Given the description of an element on the screen output the (x, y) to click on. 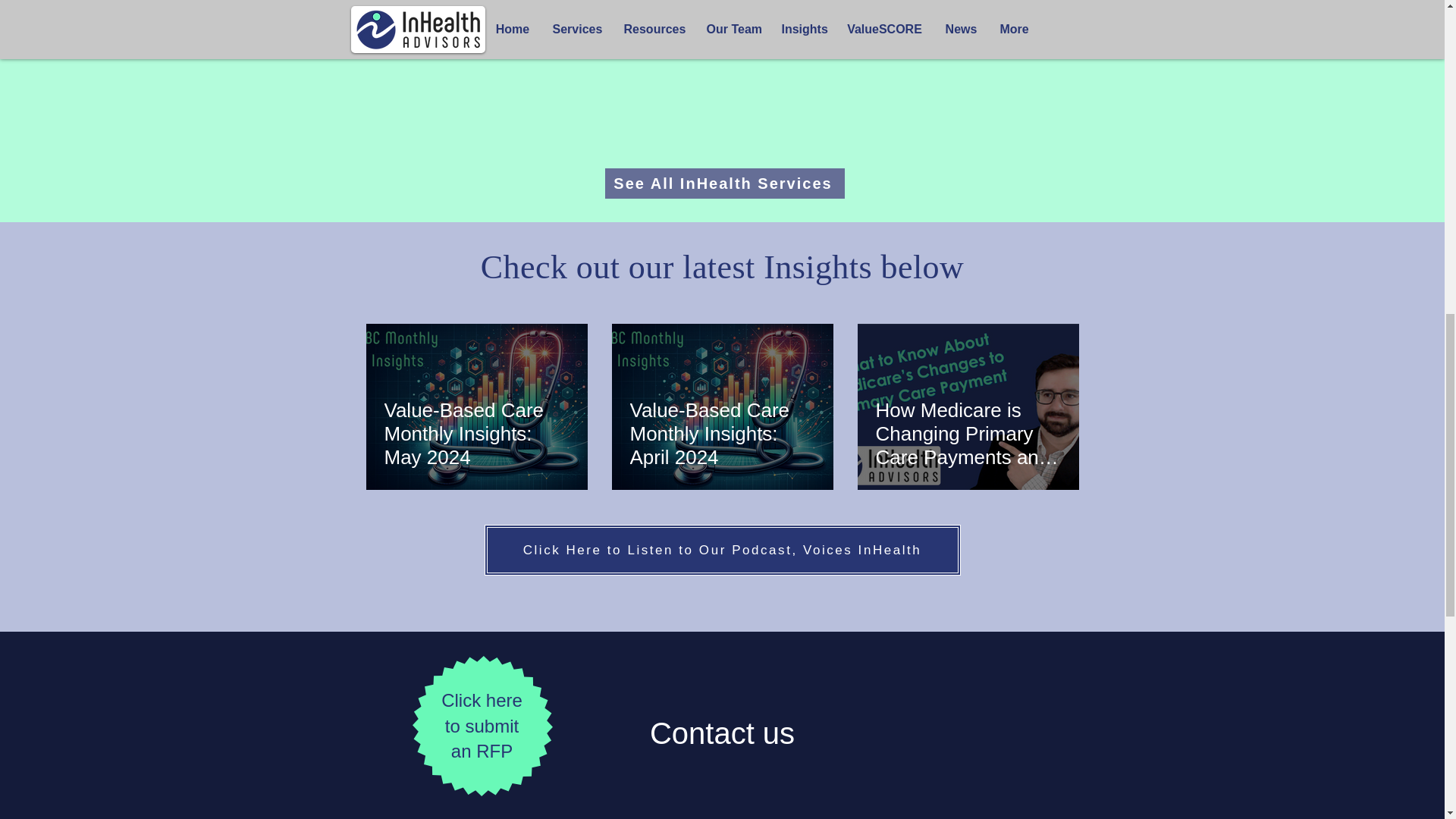
Value-Based Care Monthly Insights: April 2024 (720, 433)
Click Here to Listen to Our Podcast, Voices InHealth (721, 549)
Click here to submit an RFP (481, 725)
Value-Based Care Monthly Insights: May 2024 (476, 433)
See All InHealth Services (724, 183)
